Given the description of an element on the screen output the (x, y) to click on. 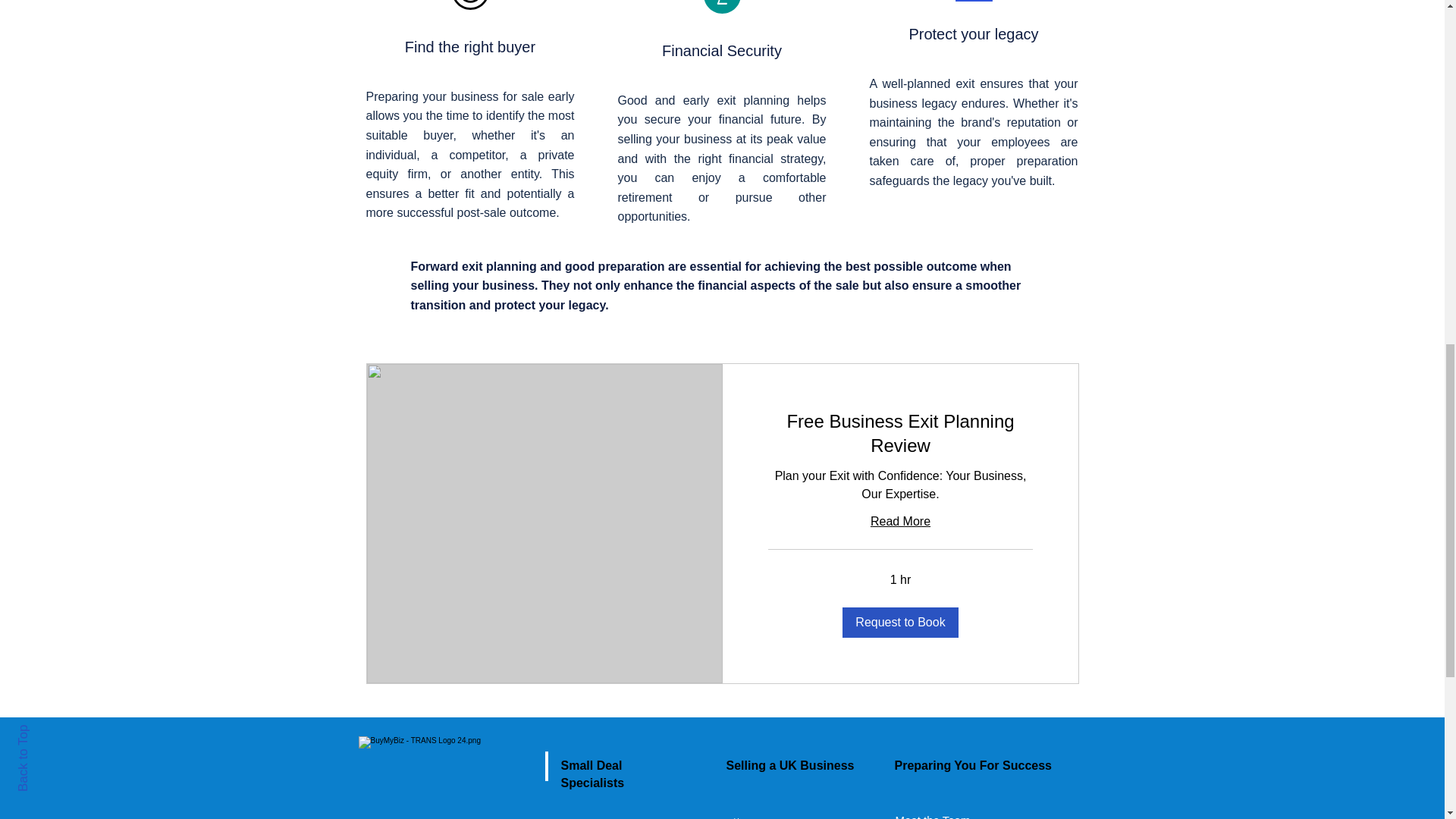
Home (810, 812)
Free Business Exit Planning Review (899, 433)
Read More (899, 520)
Request to Book (900, 621)
Meet the Team (932, 816)
